Given the description of an element on the screen output the (x, y) to click on. 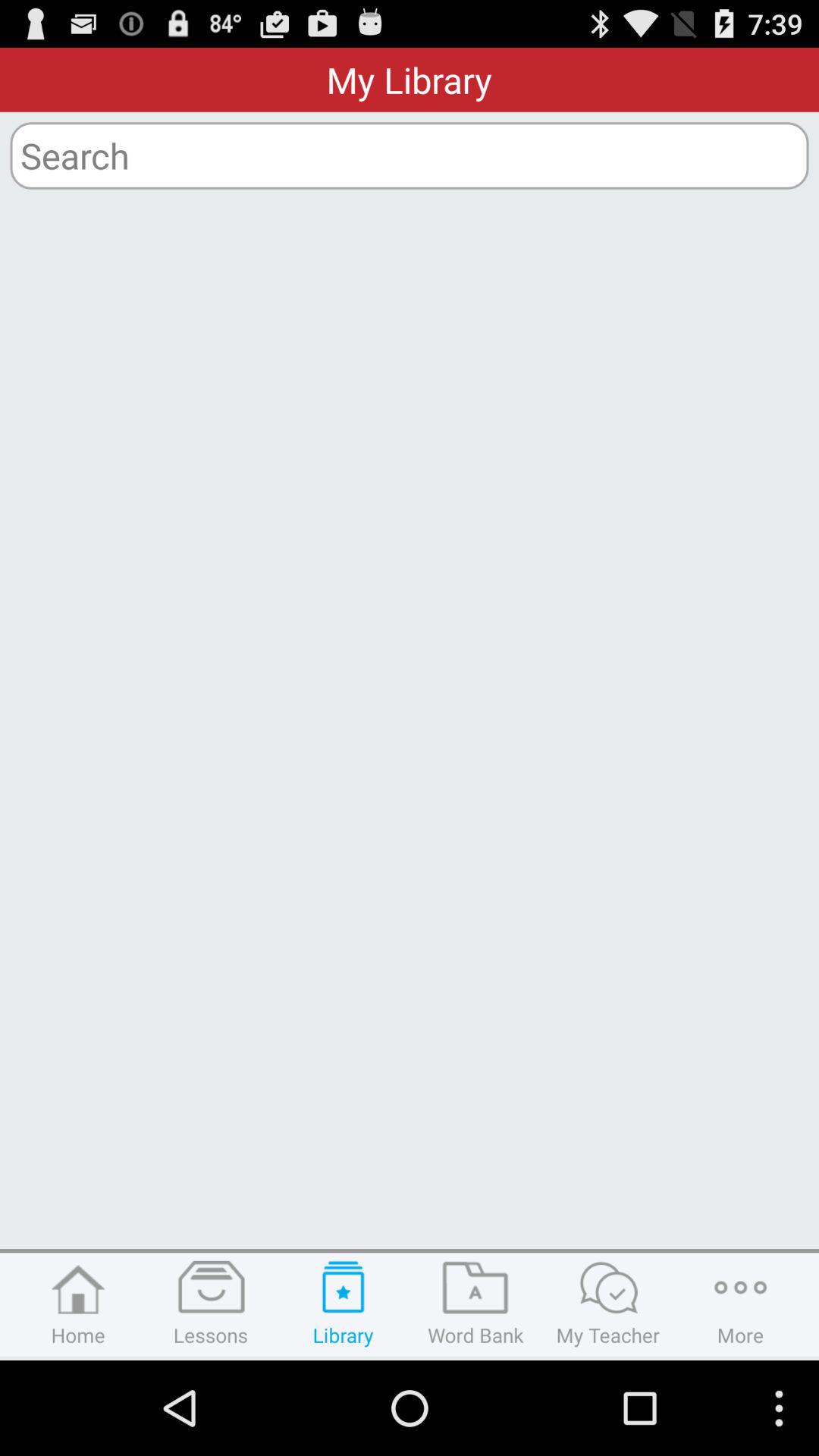
turn on the icon at the center (409, 723)
